Given the description of an element on the screen output the (x, y) to click on. 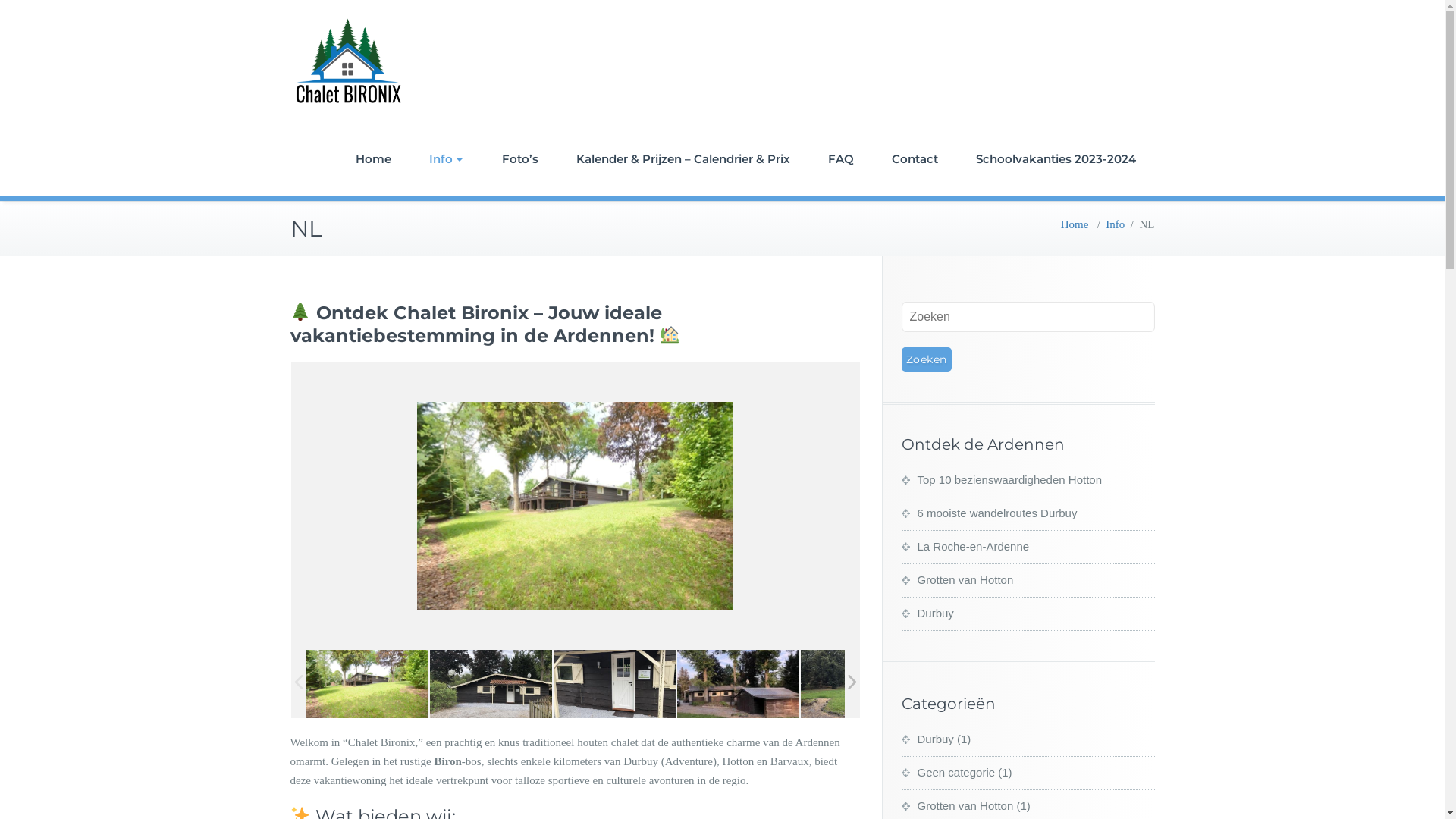
Zoeken Element type: text (925, 359)
Foto 18-07-19 17 26 22 Element type: hover (614, 683)
Foto exterieur Element type: hover (367, 683)
Foto 18-07-19 17 25 41 Element type: hover (490, 683)
Schoolvakanties 2023-2024 Element type: text (1055, 158)
Durbuy Element type: text (926, 738)
Info Element type: text (444, 158)
Contact Element type: text (914, 158)
FAQ Element type: text (840, 158)
Foto 18-07-19 17 34 11 Element type: hover (861, 683)
Home Element type: text (1074, 224)
Grotten van Hotton Element type: text (956, 579)
Info Element type: text (1114, 224)
Grotten van Hotton Element type: text (956, 805)
La Roche-en-Ardenne Element type: text (964, 545)
Home Element type: text (373, 158)
Geen categorie Element type: text (947, 771)
Top 10 bezienswaardigheden Hotton Element type: text (1000, 479)
6 mooiste wandelroutes Durbuy Element type: text (988, 512)
Durbuy Element type: text (926, 612)
Doorgaan naar inhoud Element type: text (0, 0)
